Given the description of an element on the screen output the (x, y) to click on. 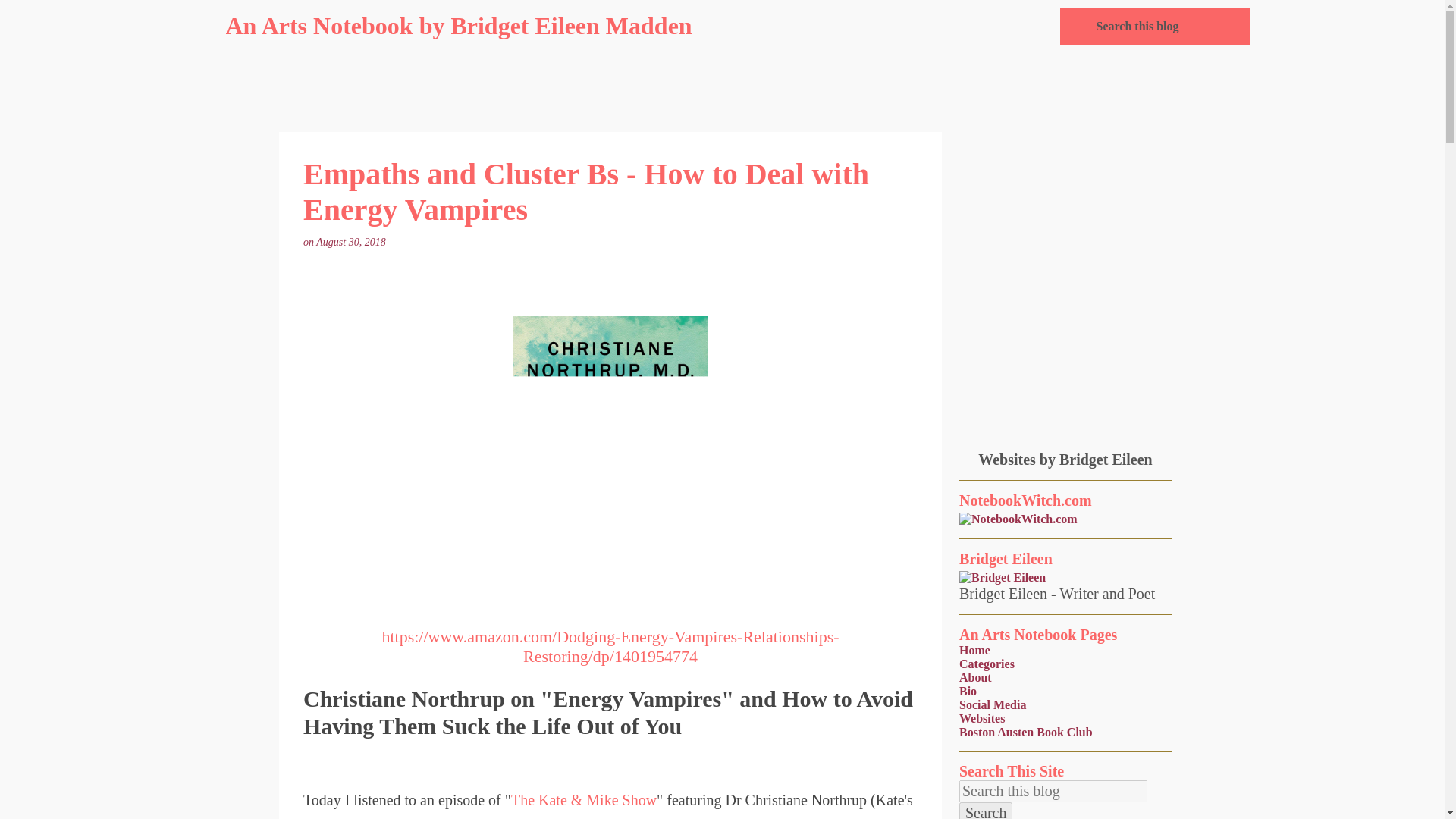
Social Media (992, 704)
About (975, 676)
Bio (967, 690)
An Arts Notebook by Bridget Eileen Madden (459, 25)
Home (974, 649)
Search (985, 810)
August 30, 2018 (351, 242)
Categories (986, 663)
permanent link (351, 242)
Email Post (397, 242)
